Given the description of an element on the screen output the (x, y) to click on. 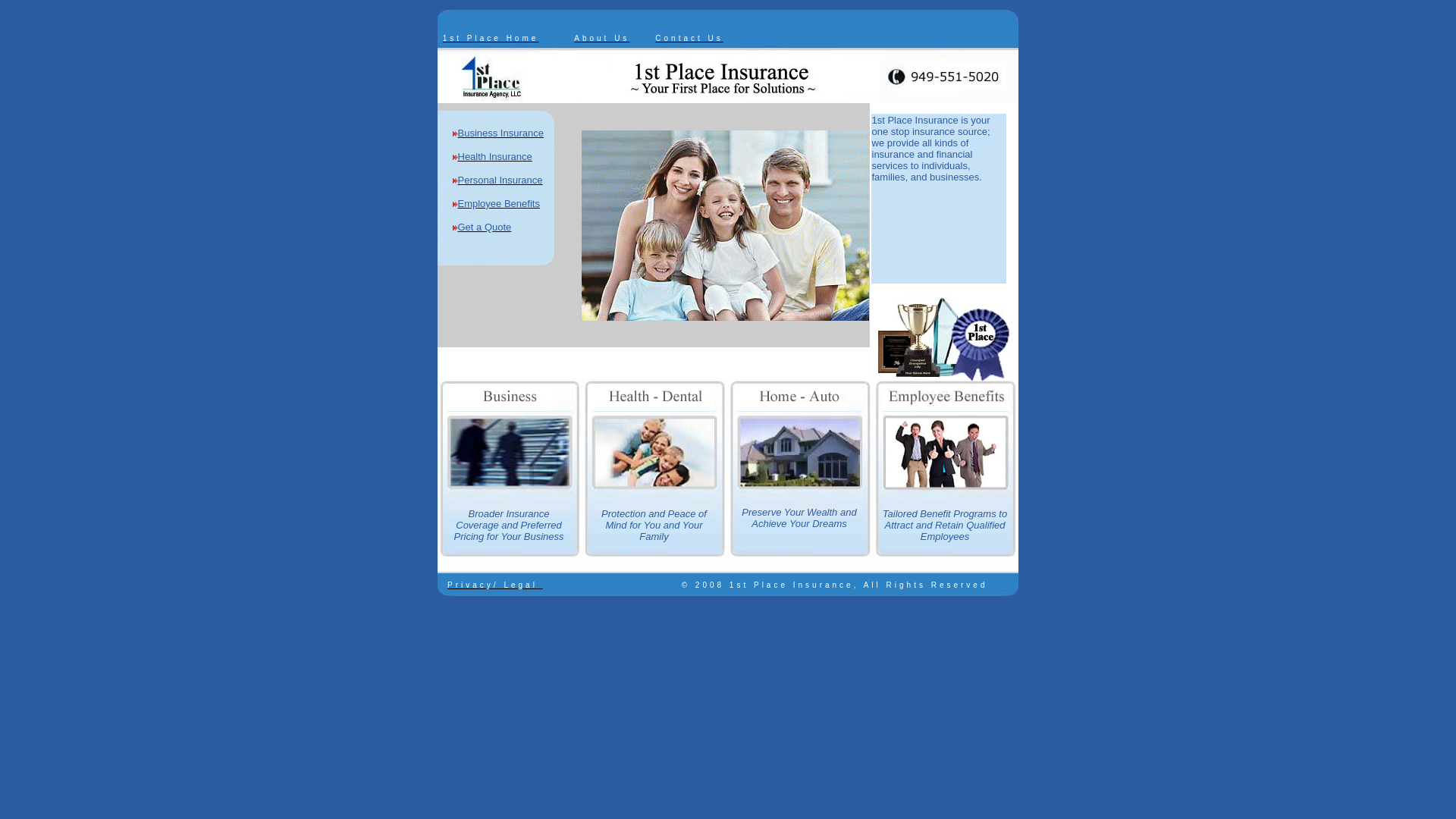
About Us Element type: text (601, 36)
Business Insurance Element type: text (496, 131)
1st Place Home Element type: text (490, 36)
. Element type: text (539, 582)
Personal Insurance Element type: text (496, 178)
Contact Us Element type: text (688, 36)
Get a Quote Element type: text (481, 225)
Employee Benefits Element type: text (495, 201)
Privacy/ Legal Element type: text (492, 584)
Health Insurance Element type: text (491, 154)
